Given the description of an element on the screen output the (x, y) to click on. 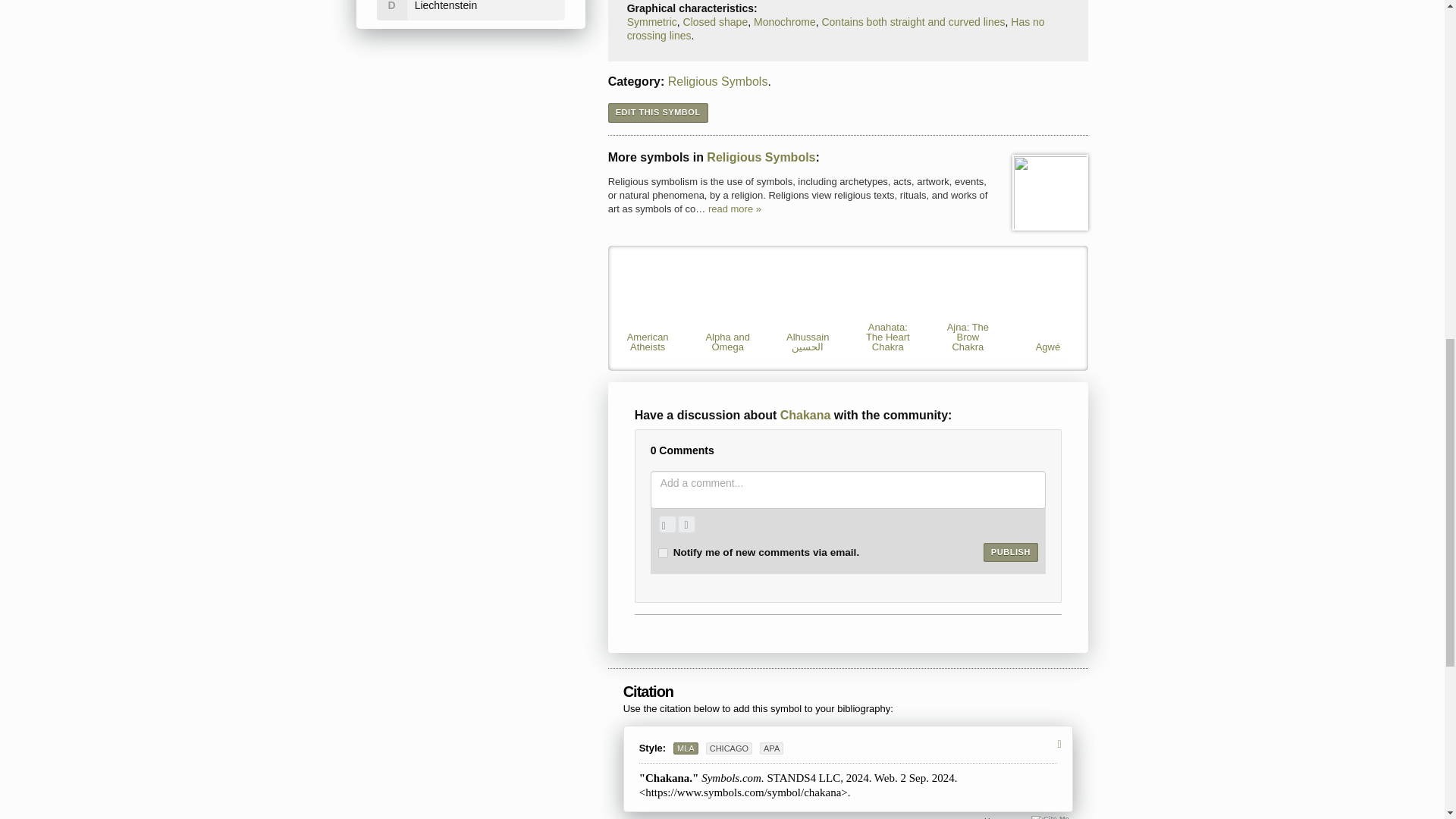
Record a sound (686, 524)
Upload an image (667, 524)
Religious Symbols (1049, 192)
on (663, 552)
